Given the description of an element on the screen output the (x, y) to click on. 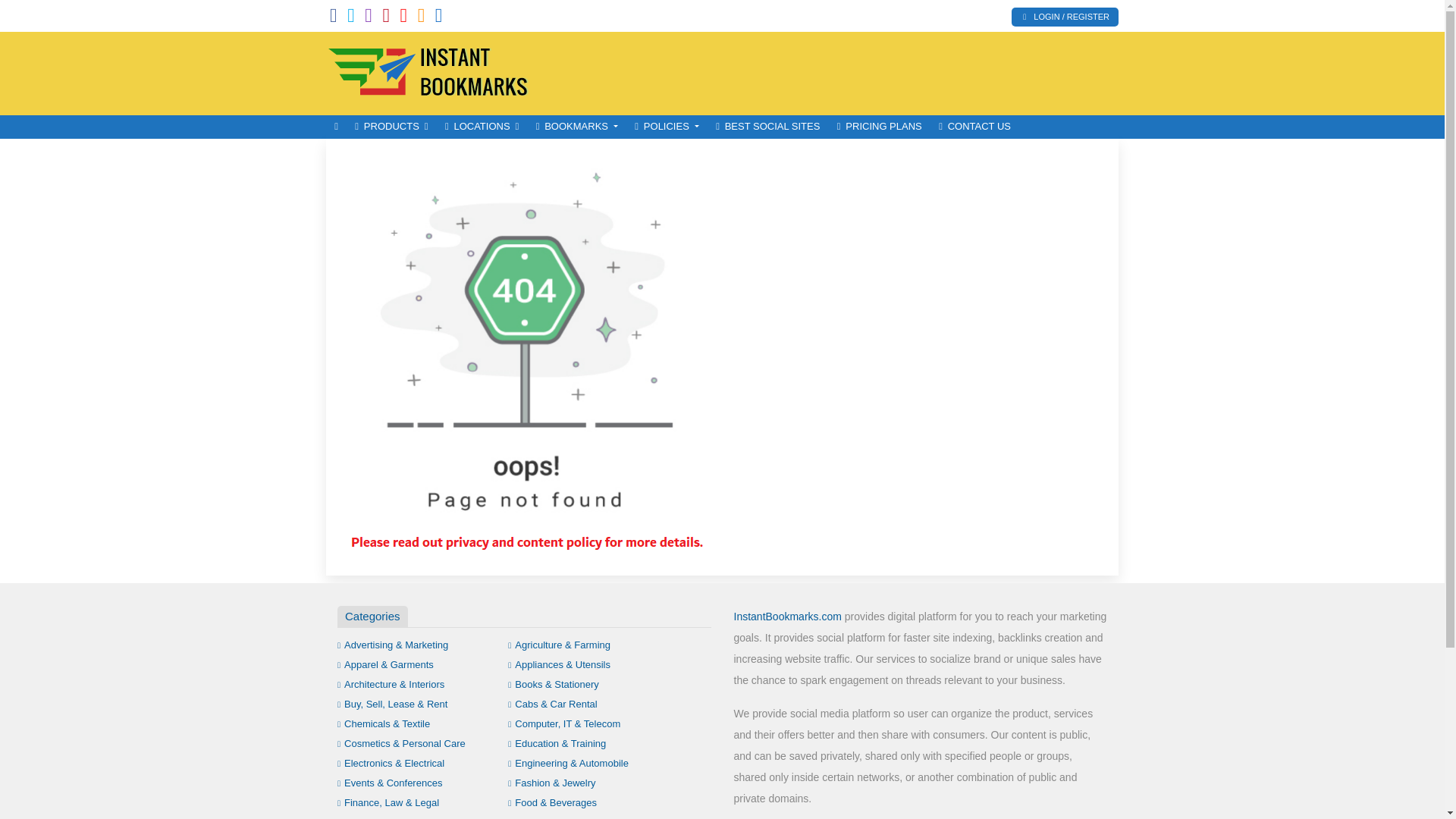
Advertise on Digital Media Platform to Reach Marketing Goal (428, 71)
PRODUCTS (391, 126)
LOCATIONS (481, 126)
